Given the description of an element on the screen output the (x, y) to click on. 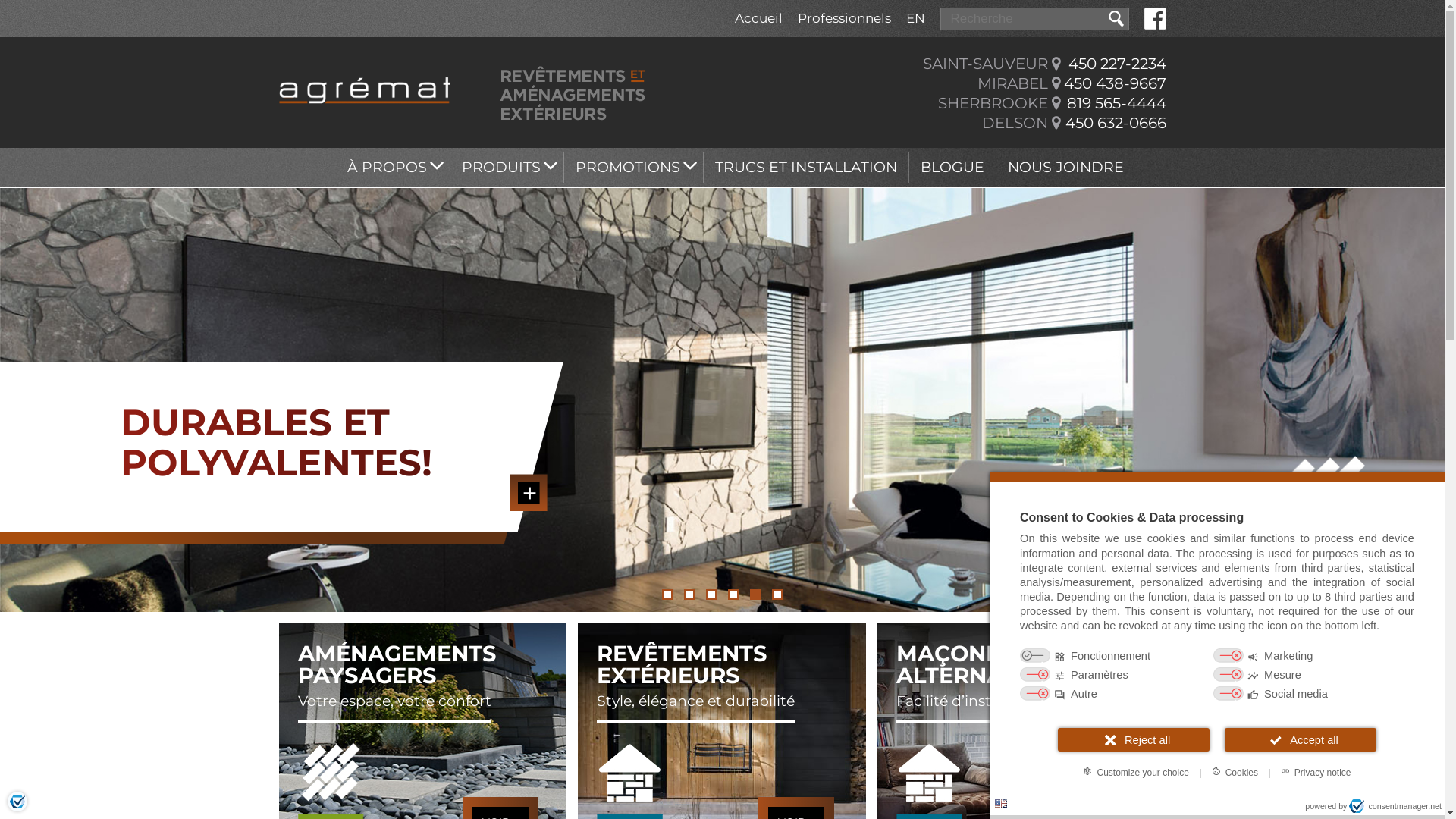
Reject all Element type: text (1133, 739)
SAINT-SAUVEUR Element type: text (984, 63)
450 438-9667 Element type: text (1114, 83)
Accept all Element type: text (1300, 739)
TRUCS ET INSTALLATION Element type: text (805, 166)
819 565-4444 Element type: text (1115, 103)
SHERBROOKE Element type: text (992, 103)
Professionnels Element type: text (844, 17)
Language: en Element type: hover (1000, 802)
consentmanager.net Element type: text (1395, 805)
Cookies Element type: text (1234, 771)
Accueil Element type: text (758, 17)
Language: en Element type: hover (1000, 803)
PRODUITS Element type: text (506, 166)
PROMOTIONS Element type: text (633, 166)
450 632-0666 Element type: text (1114, 122)
NOUS JOINDRE Element type: text (1065, 166)
BLOGUE Element type: text (951, 166)
DELSON Element type: text (1014, 122)
Privacy settings Element type: hover (17, 801)
Customize your choice Element type: text (1135, 771)
Privacy notice Element type: text (1315, 771)
450 227-2234 Element type: text (1116, 63)
MIRABEL Element type: text (1011, 83)
EN Element type: text (915, 17)
